Given the description of an element on the screen output the (x, y) to click on. 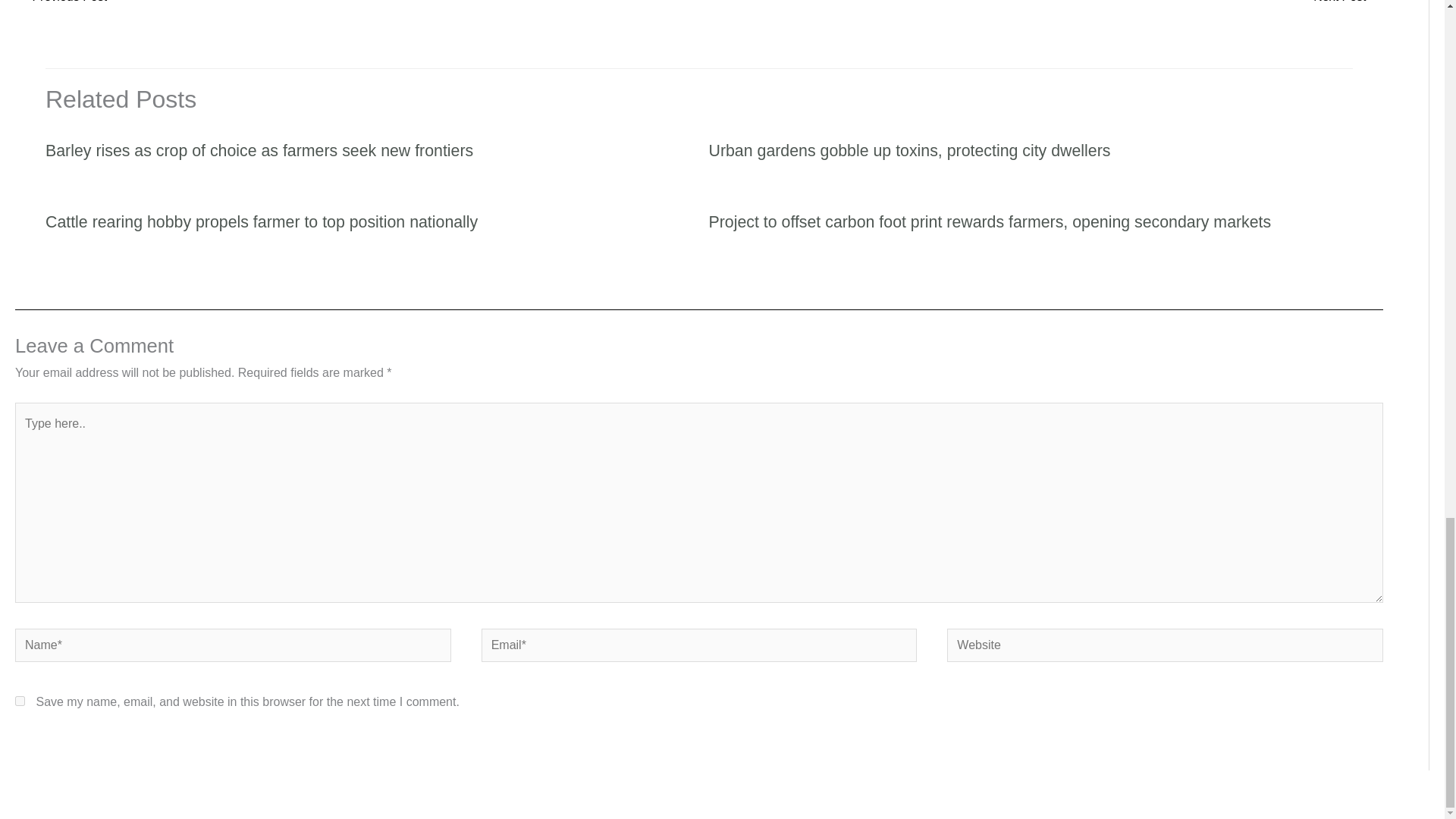
Urban gardens gobble up toxins, protecting city dwellers (908, 150)
Barley rises as crop of choice as farmers seek new frontiers (259, 150)
yes (19, 700)
